Given the description of an element on the screen output the (x, y) to click on. 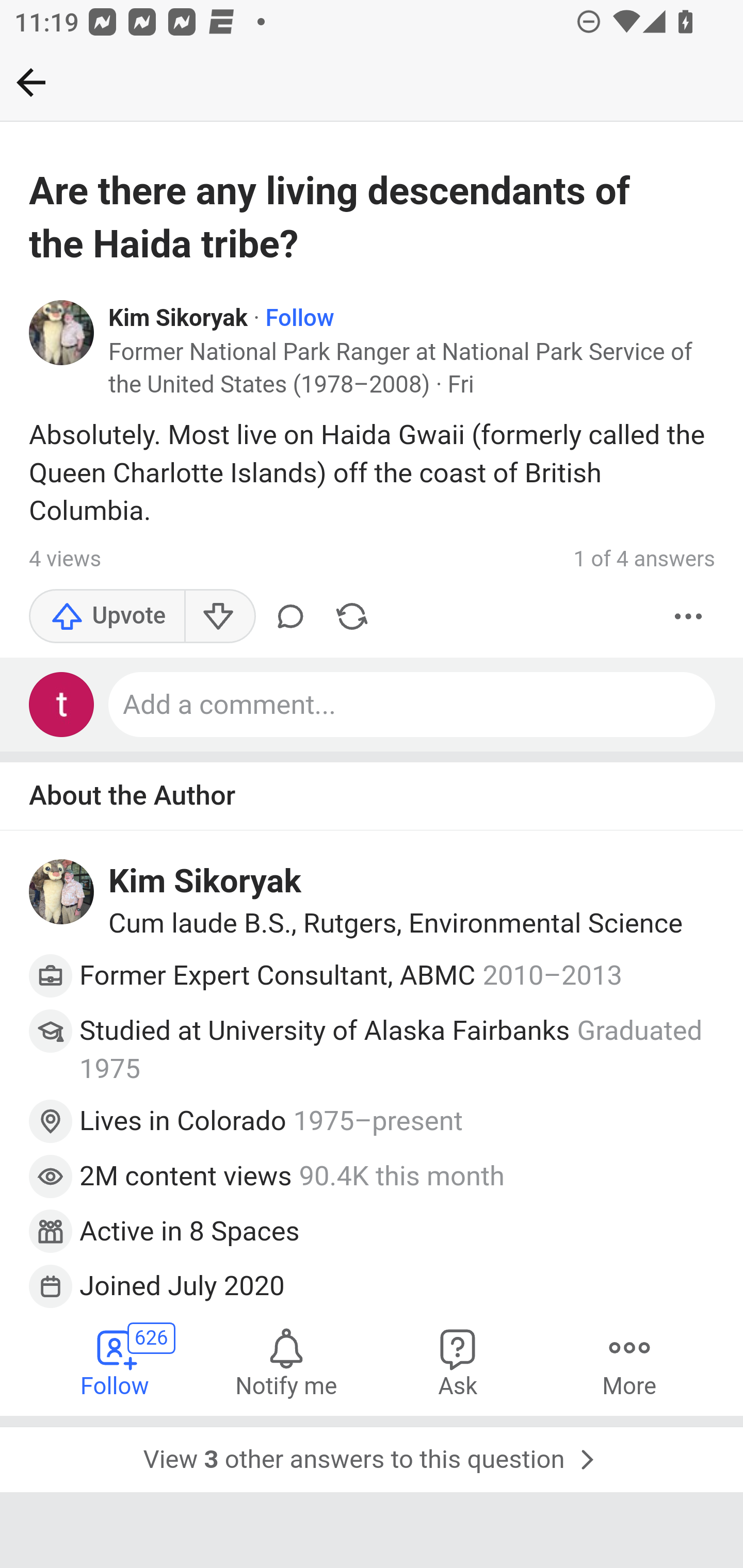
Back (30, 82)
Profile photo for Kim Sikoryak (61, 331)
Kim Sikoryak (178, 318)
Follow (299, 318)
1 of 4 answers (644, 558)
Upvote (106, 617)
Downvote (219, 617)
Comment (290, 617)
Share (351, 617)
More (688, 617)
Profile photo for Test Appium (61, 704)
Add a comment... (412, 704)
Profile photo for Kim Sikoryak (61, 891)
Kim Sikoryak (204, 880)
Follow Kim Sikoryak 626 Follow (115, 1361)
Notify me (285, 1361)
Ask (458, 1361)
More (628, 1361)
View 3 other answers to this question (371, 1454)
